Given the description of an element on the screen output the (x, y) to click on. 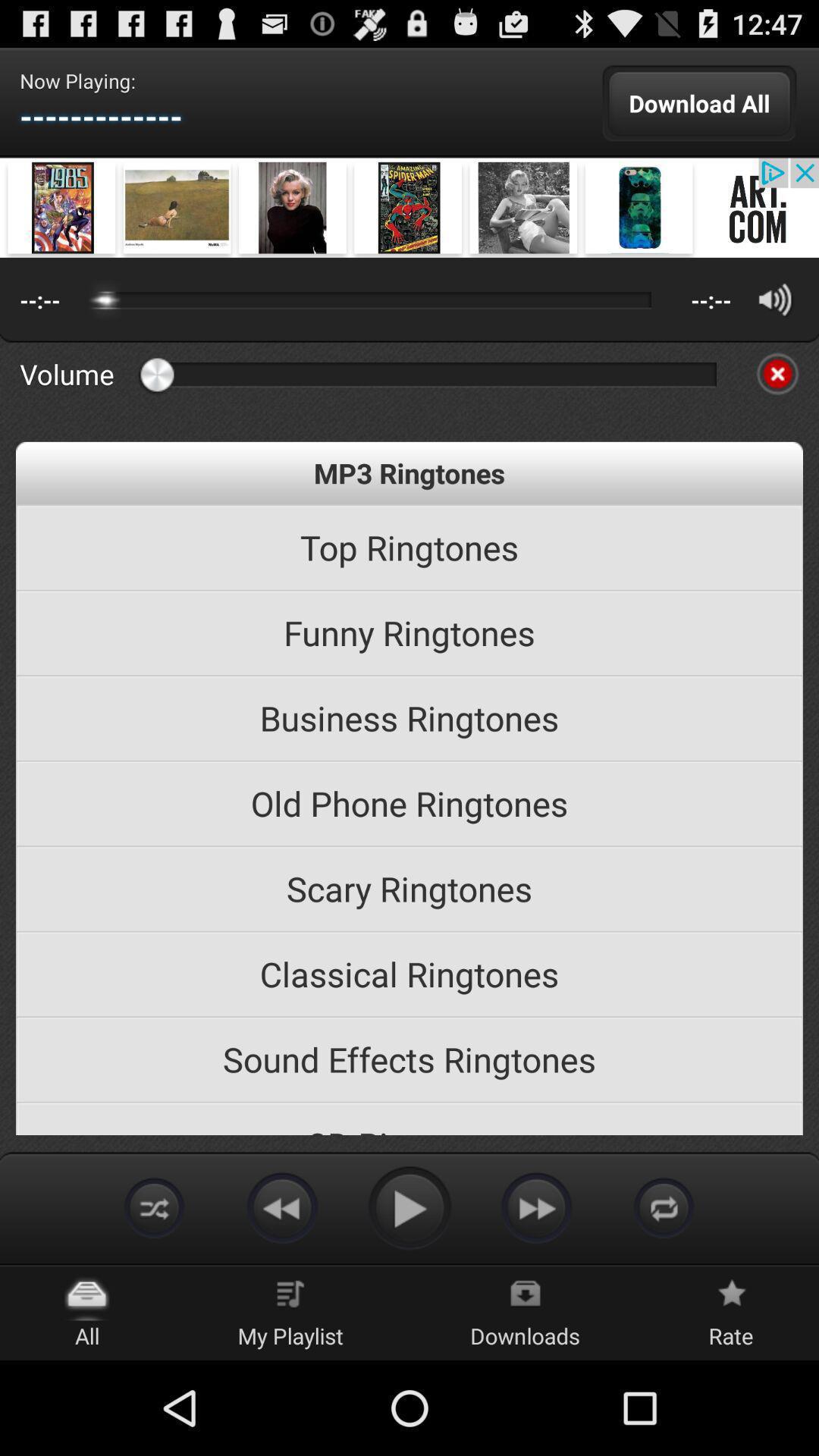
rewind (281, 1207)
